Given the description of an element on the screen output the (x, y) to click on. 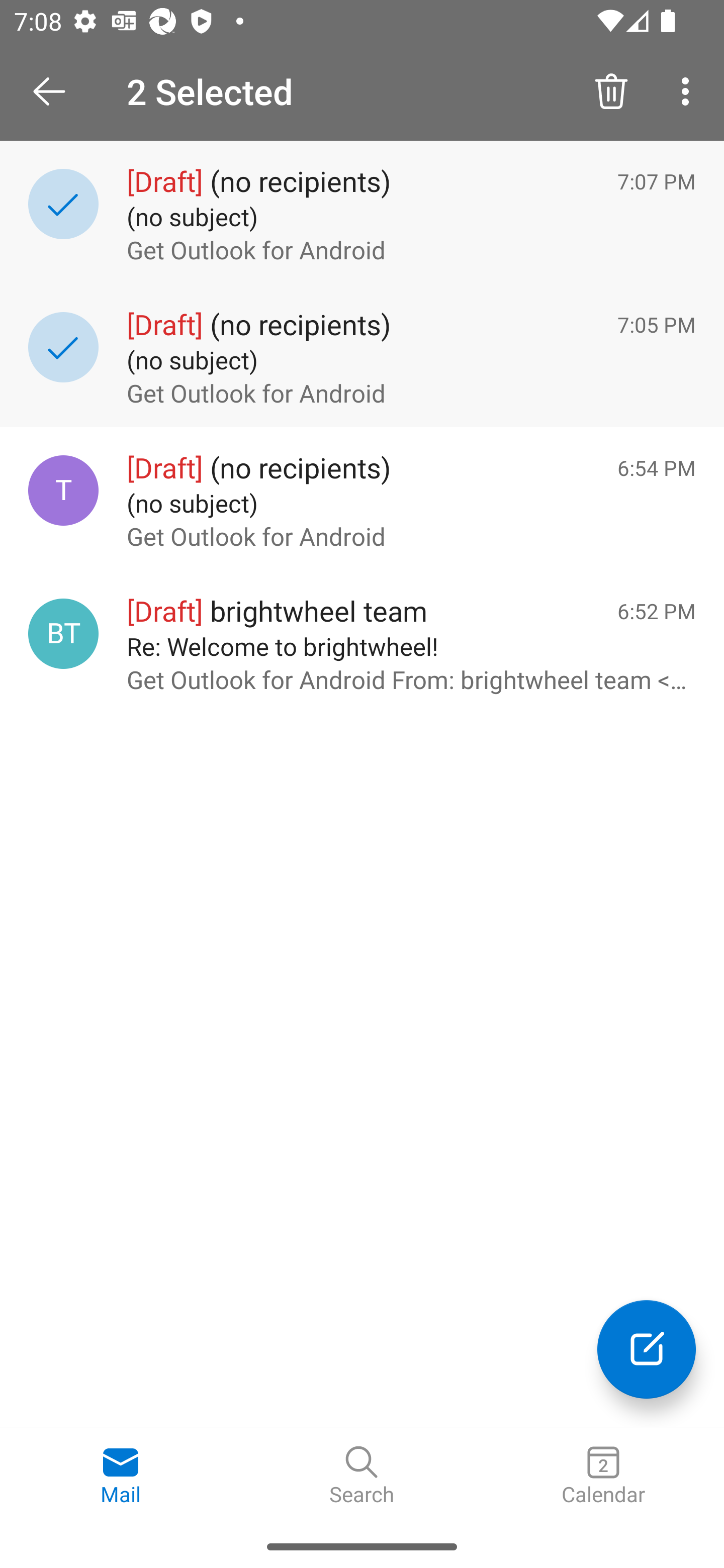
Delete (611, 90)
More options (688, 90)
Open Navigation Drawer (55, 91)
testappium001@outlook.com (63, 489)
brightwheel team, testappium001@outlook.com (63, 633)
Compose (646, 1348)
Search (361, 1475)
Calendar (603, 1475)
